Given the description of an element on the screen output the (x, y) to click on. 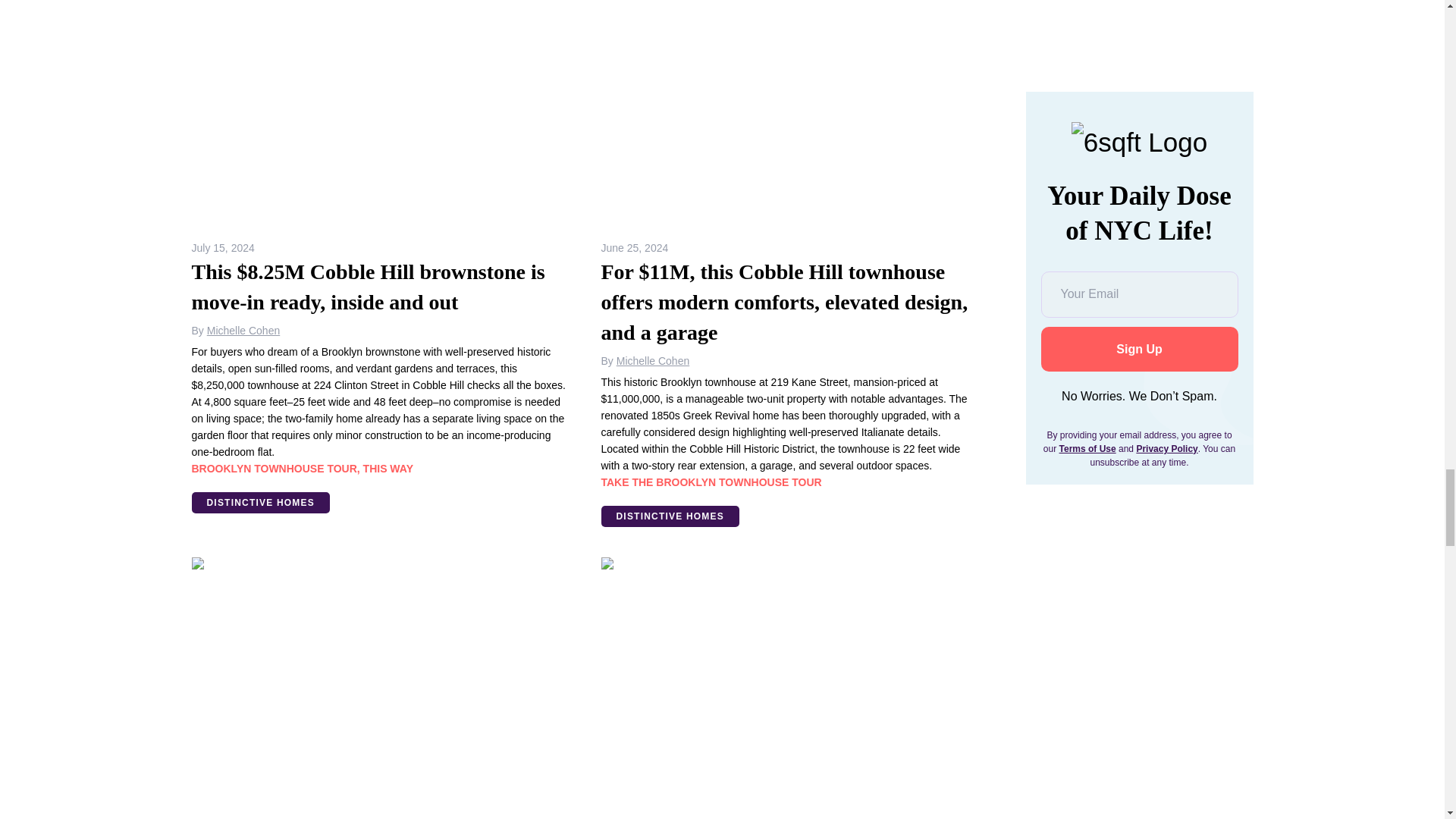
Posts by Michelle Cohen (652, 360)
Sign Up (1139, 155)
Posts by Michelle Cohen (243, 330)
